Given the description of an element on the screen output the (x, y) to click on. 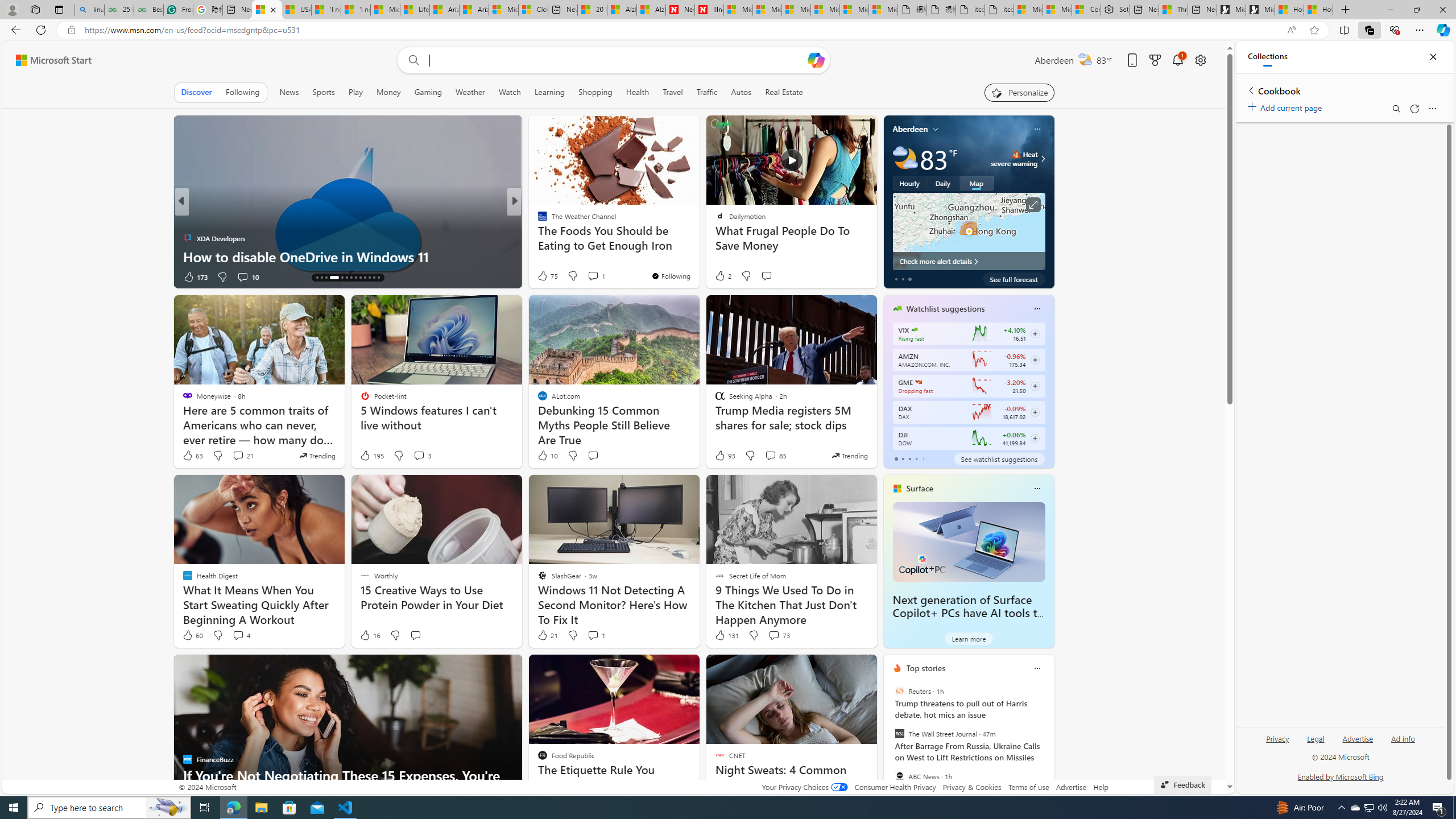
Larger map  (968, 231)
View comments 40 Comment (594, 276)
Personalize your feed" (1019, 92)
tab-0 (895, 458)
